Given the description of an element on the screen output the (x, y) to click on. 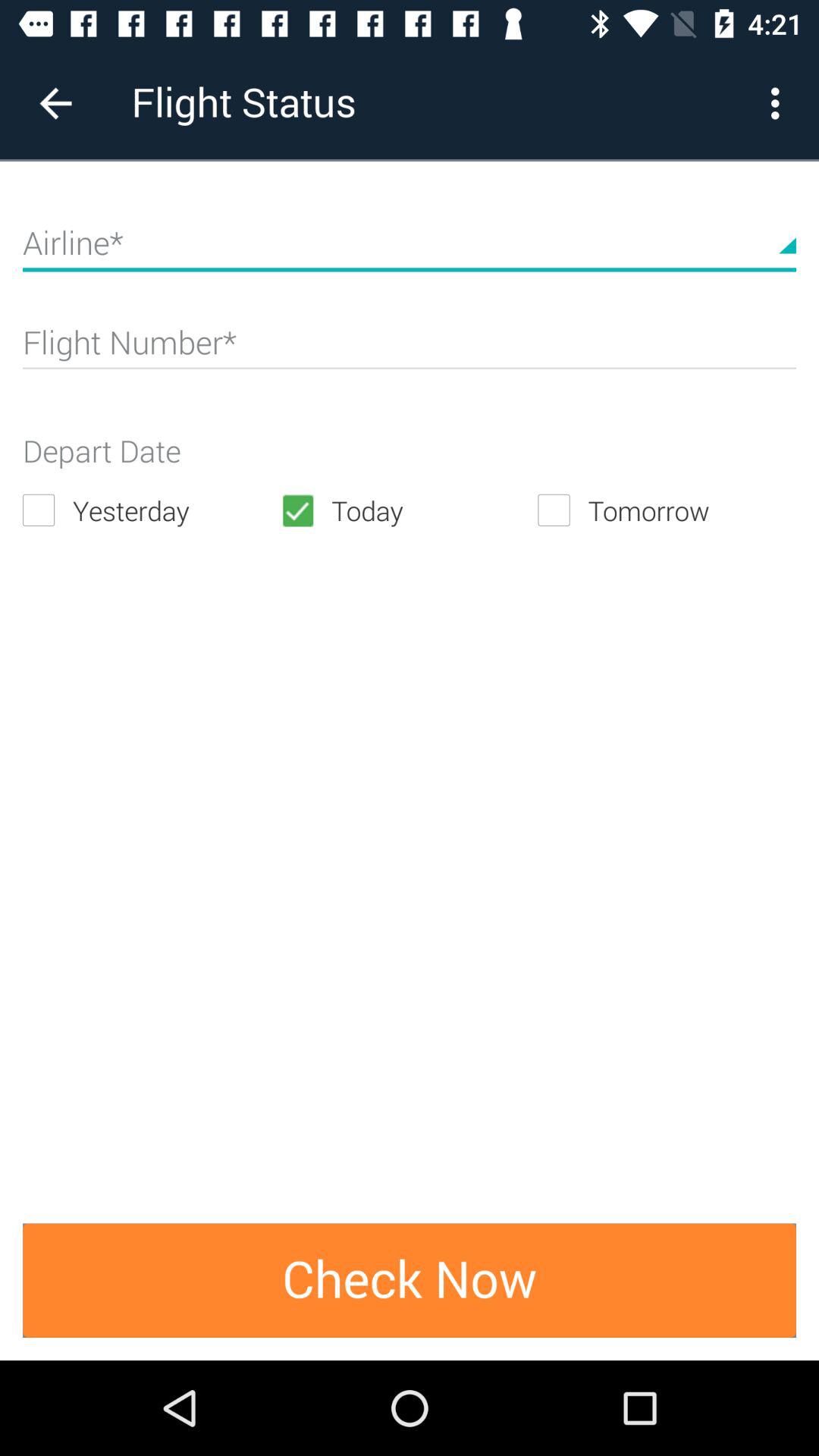
choose the icon below the yesterday (409, 1280)
